Given the description of an element on the screen output the (x, y) to click on. 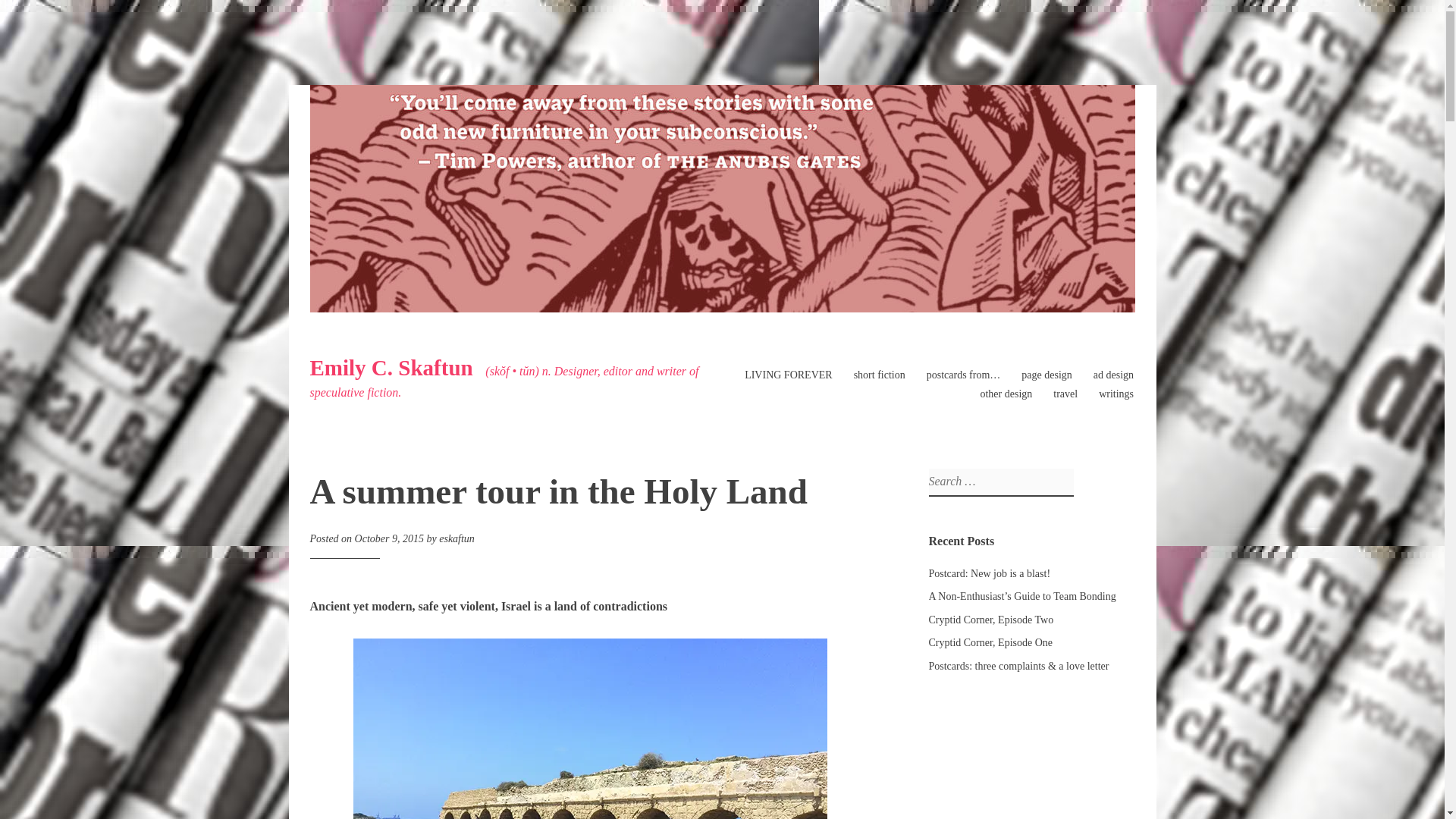
Search (17, 13)
Cryptid Corner, Episode Two (990, 619)
page design (1046, 374)
LIVING FOREVER (788, 374)
travel (1064, 393)
Emily C. Skaftun (389, 367)
other design (1005, 393)
ad design (1113, 374)
Postcard: New job is a blast! (988, 573)
short fiction (879, 374)
